Given the description of an element on the screen output the (x, y) to click on. 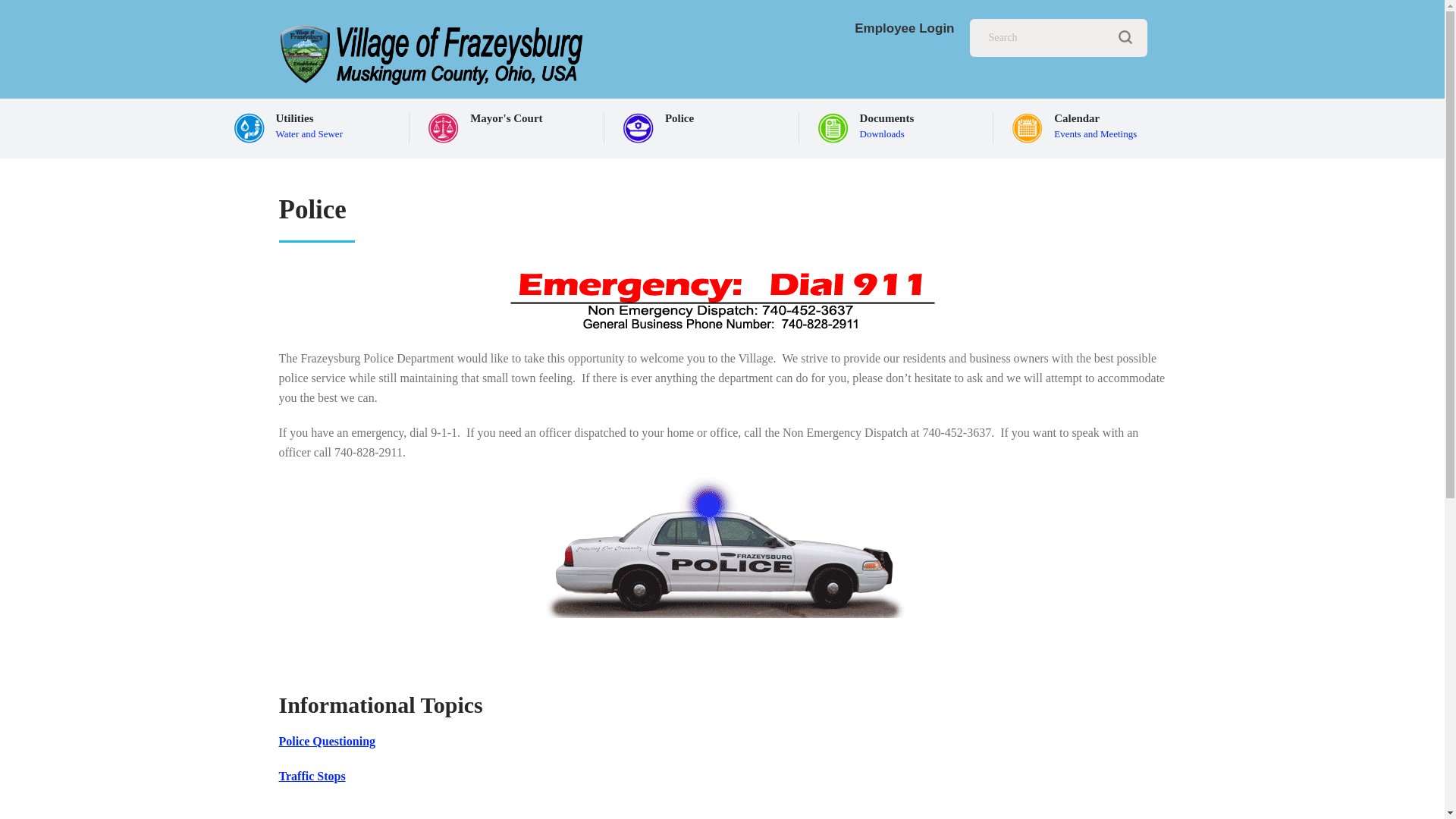
Employee Login (904, 28)
Police (704, 122)
Police Questioning (327, 740)
Mayor's Court (1091, 122)
Traffic Stops (509, 122)
